Given the description of an element on the screen output the (x, y) to click on. 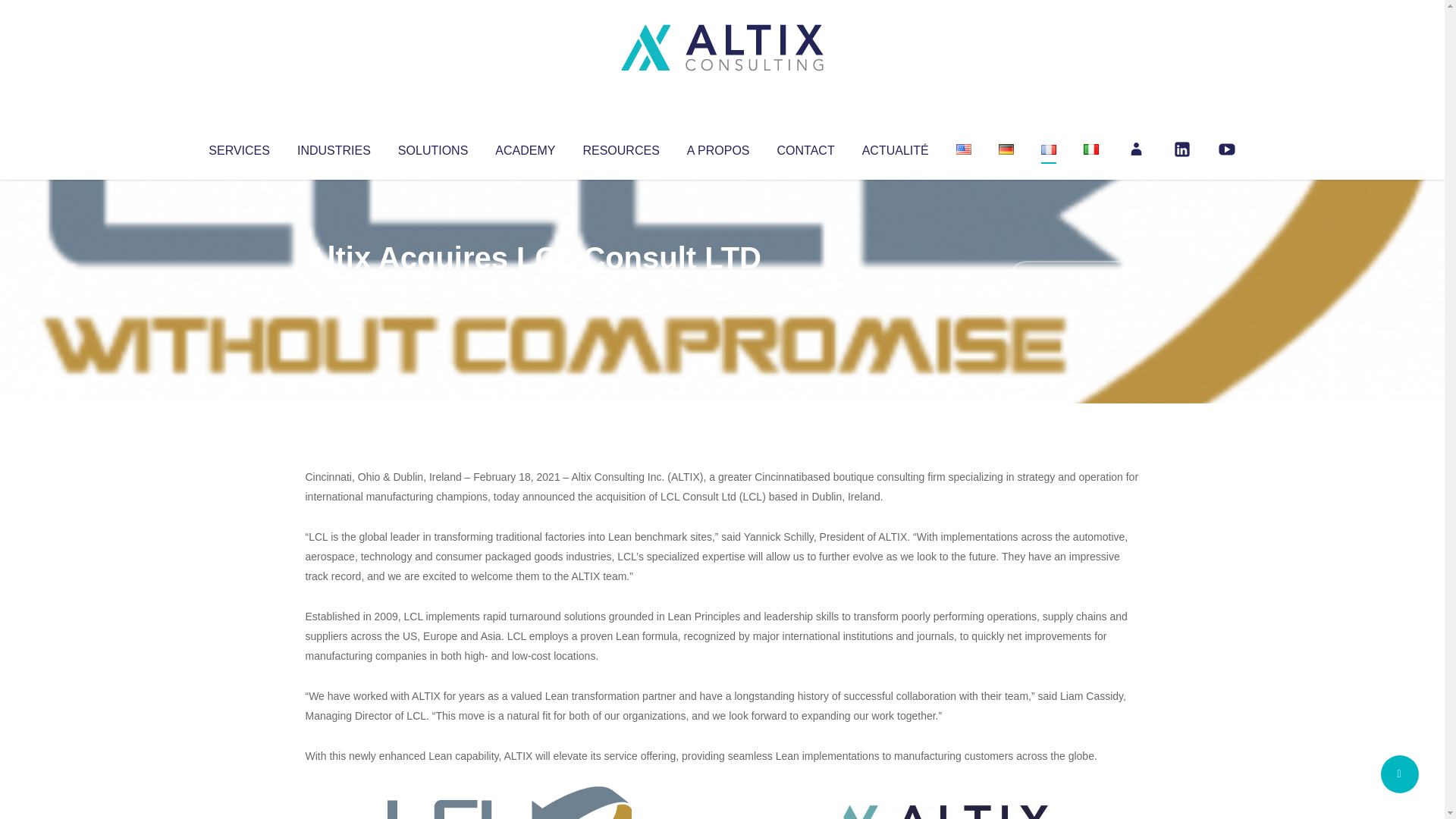
No Comments (1073, 278)
RESOURCES (620, 146)
INDUSTRIES (334, 146)
Articles par Altix (333, 287)
ACADEMY (524, 146)
SERVICES (238, 146)
Uncategorized (530, 287)
SOLUTIONS (432, 146)
Altix (333, 287)
A PROPOS (718, 146)
